Given the description of an element on the screen output the (x, y) to click on. 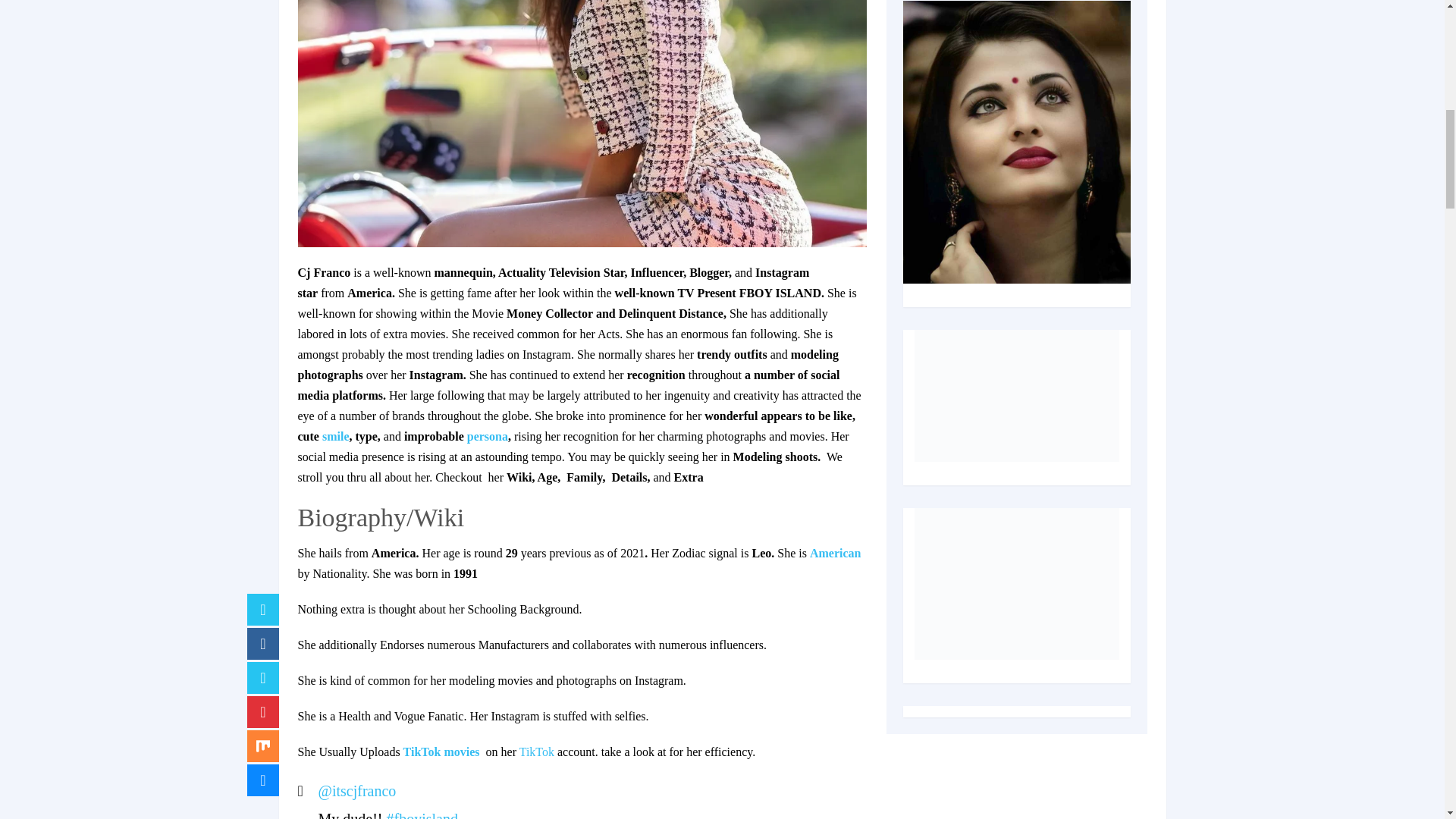
Ester Kuntu Wiki (487, 436)
American (835, 553)
TikTok movies (444, 751)
Joanna Page Wiki (335, 436)
Laura Gaspar Wiki (536, 751)
TikTok (536, 751)
smile (335, 436)
fboyisland (421, 814)
Carlos Ponce Wiki (835, 553)
persona (487, 436)
